Given the description of an element on the screen output the (x, y) to click on. 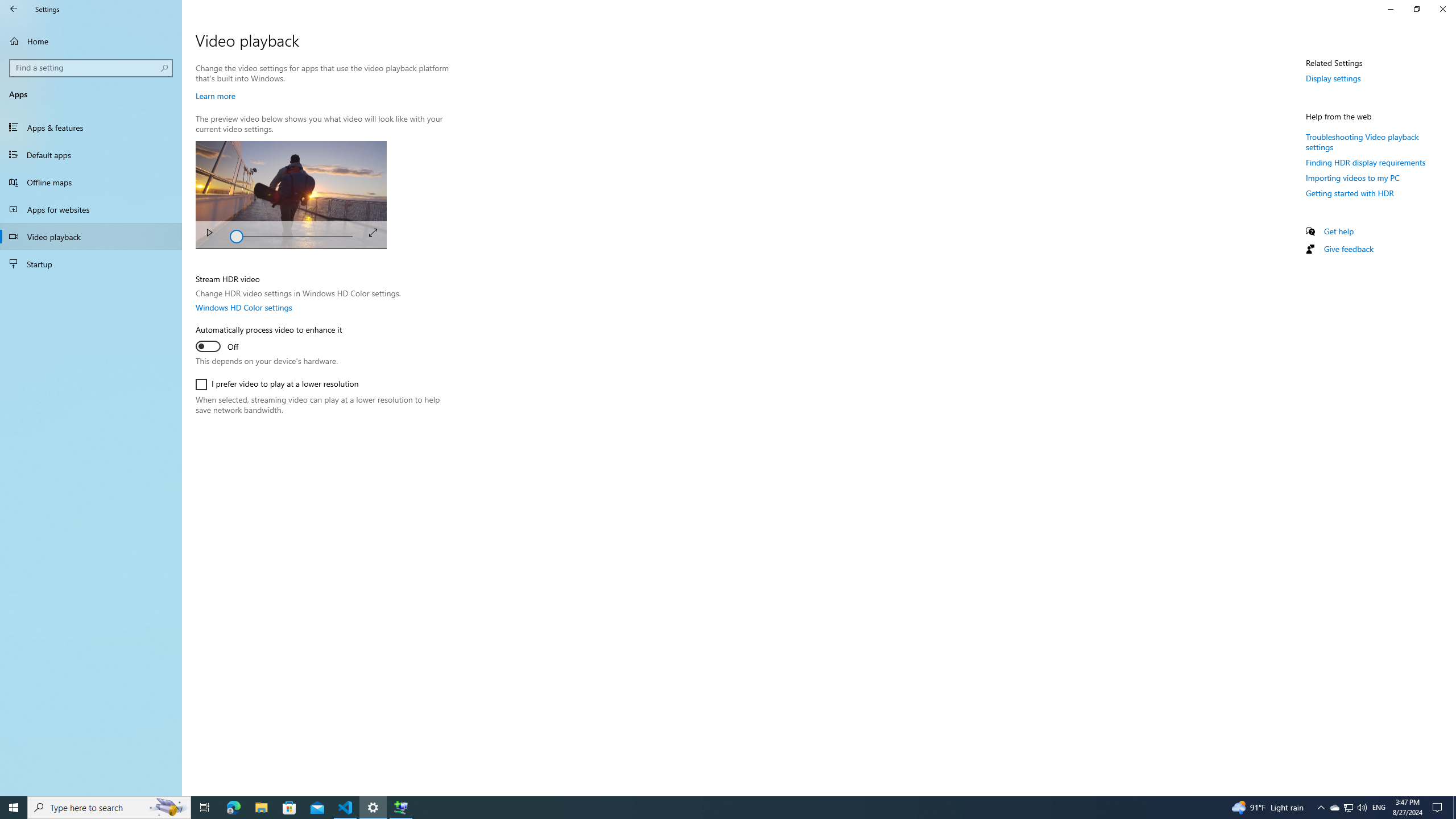
Display settings (1333, 77)
Startup (91, 263)
Learn more (215, 95)
Play (208, 234)
Importing videos to my PC (1352, 177)
Video playback (91, 236)
